Given the description of an element on the screen output the (x, y) to click on. 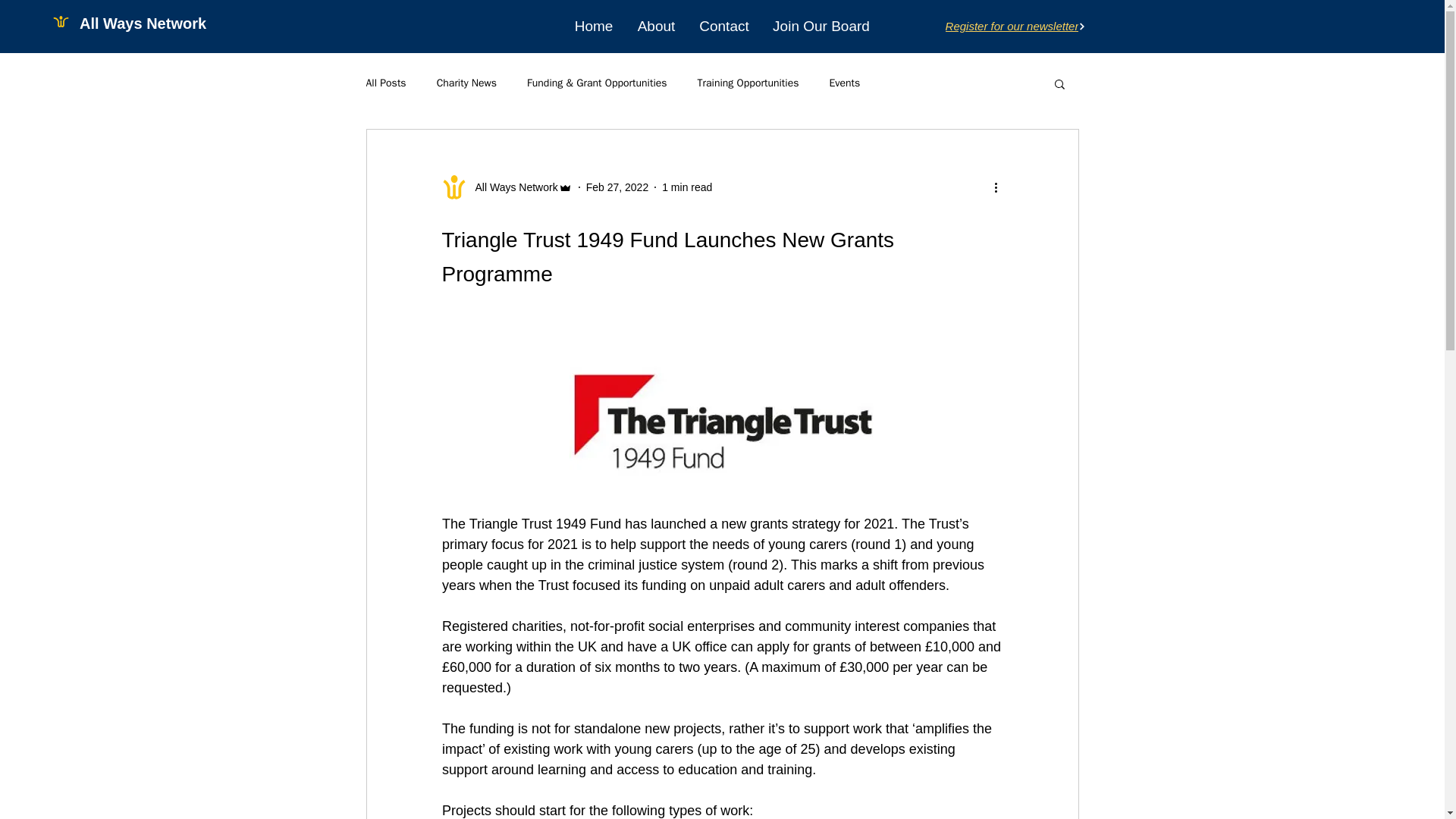
Join Our Board (821, 26)
About (655, 26)
All Ways Network (143, 22)
All Posts (385, 83)
Register for our newsletter (1015, 25)
Contact (723, 26)
Training Opportunities (748, 83)
1 min read (686, 186)
Feb 27, 2022 (617, 186)
All Ways Network (511, 186)
All Ways Network (506, 187)
Events (844, 83)
Home (593, 26)
Charity News (466, 83)
